Given the description of an element on the screen output the (x, y) to click on. 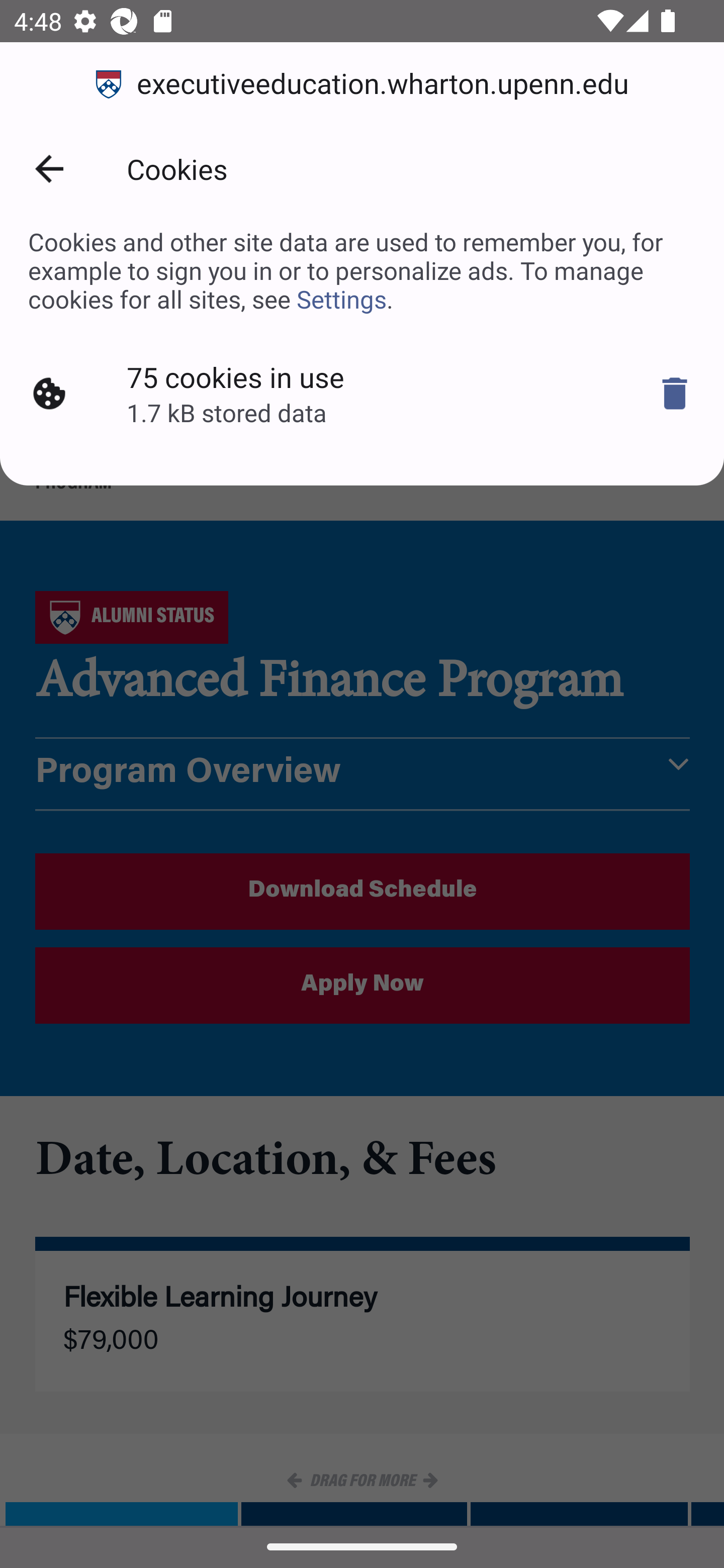
executiveeducation.wharton.upenn.edu (362, 84)
Back (49, 169)
